Given the description of an element on the screen output the (x, y) to click on. 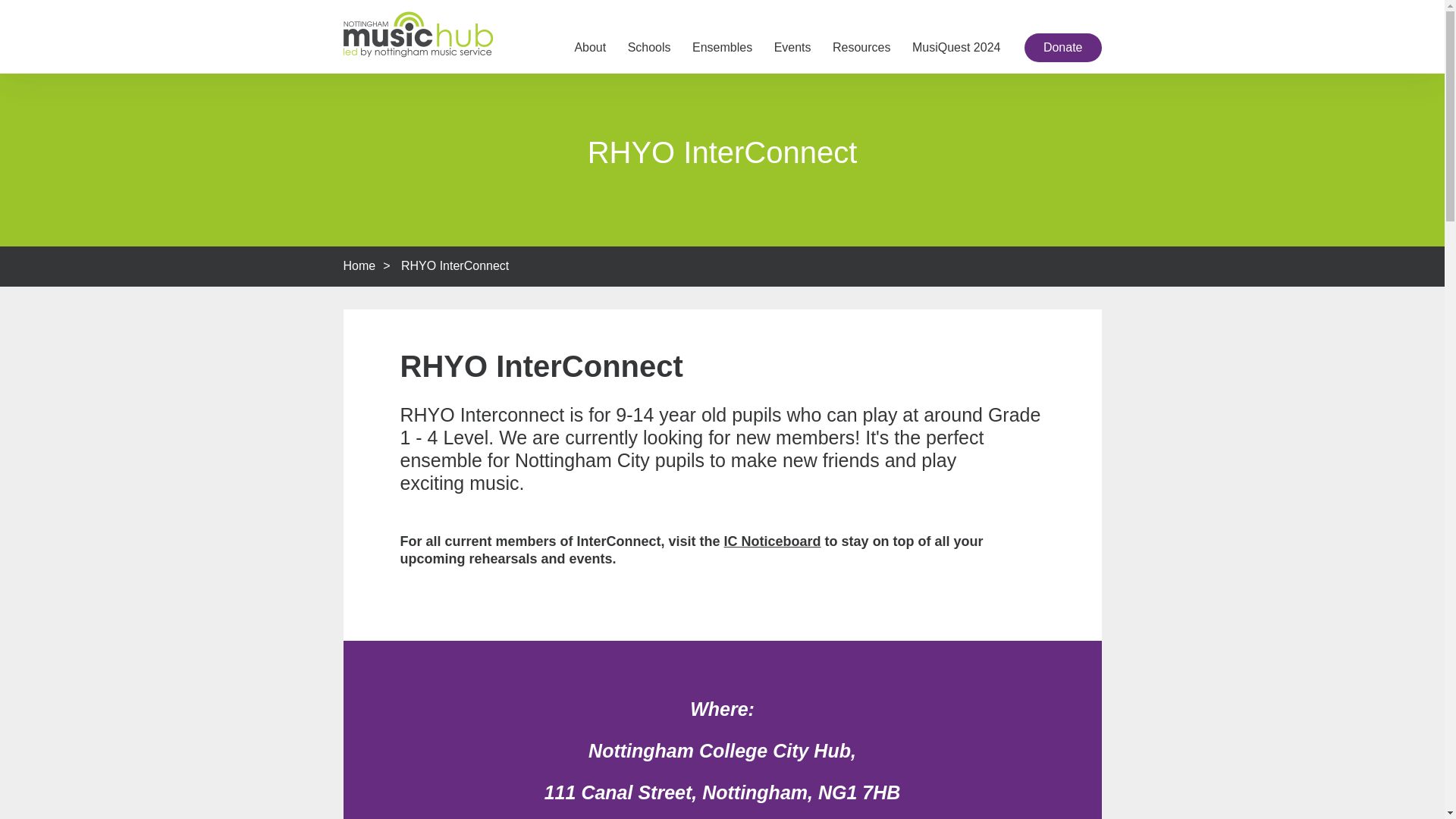
Events (792, 49)
Resources (860, 49)
Schools (649, 49)
MusiQuest 2024 (956, 49)
Home (358, 265)
IC Noticeboard (772, 540)
Ensembles (722, 49)
Donate (1063, 47)
About (589, 49)
